Given the description of an element on the screen output the (x, y) to click on. 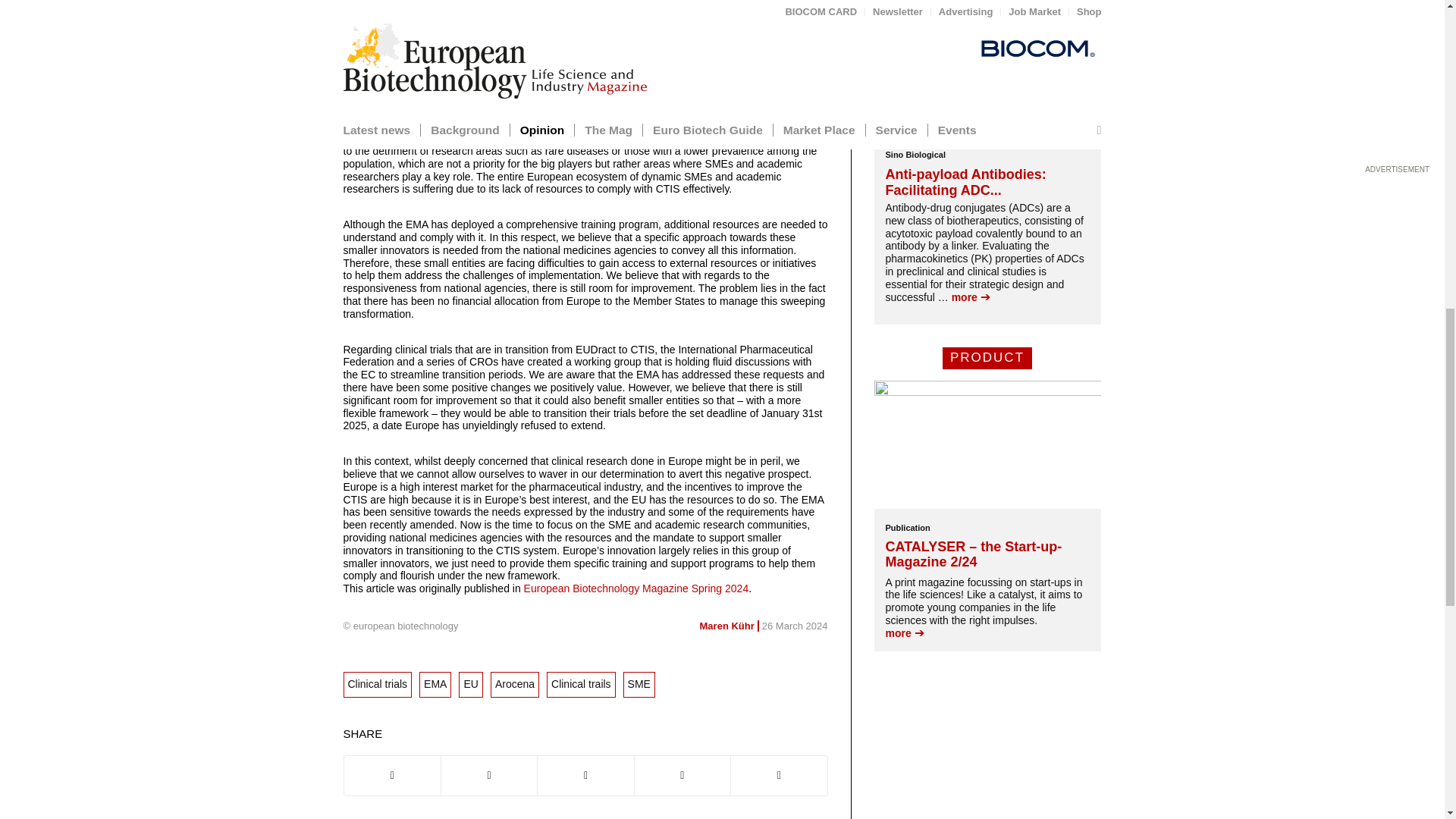
Clinical trails (581, 683)
Clinical trials (377, 683)
SME (639, 683)
EMA (435, 683)
EU (469, 683)
Arocena (514, 683)
European Biotechnology Magazine Spring 2024 (634, 588)
